Given the description of an element on the screen output the (x, y) to click on. 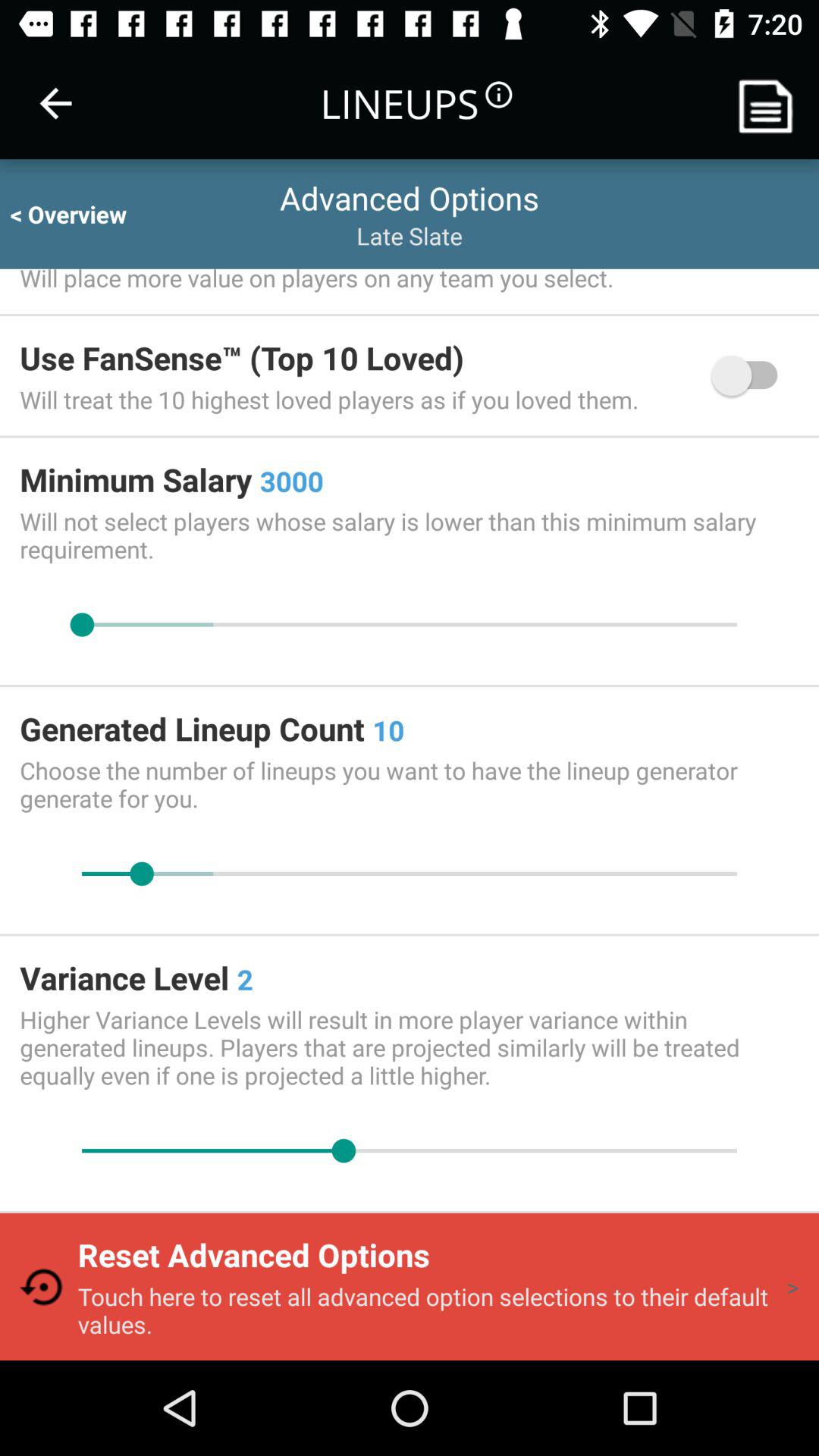
open item next to the will treat the icon (751, 375)
